Given the description of an element on the screen output the (x, y) to click on. 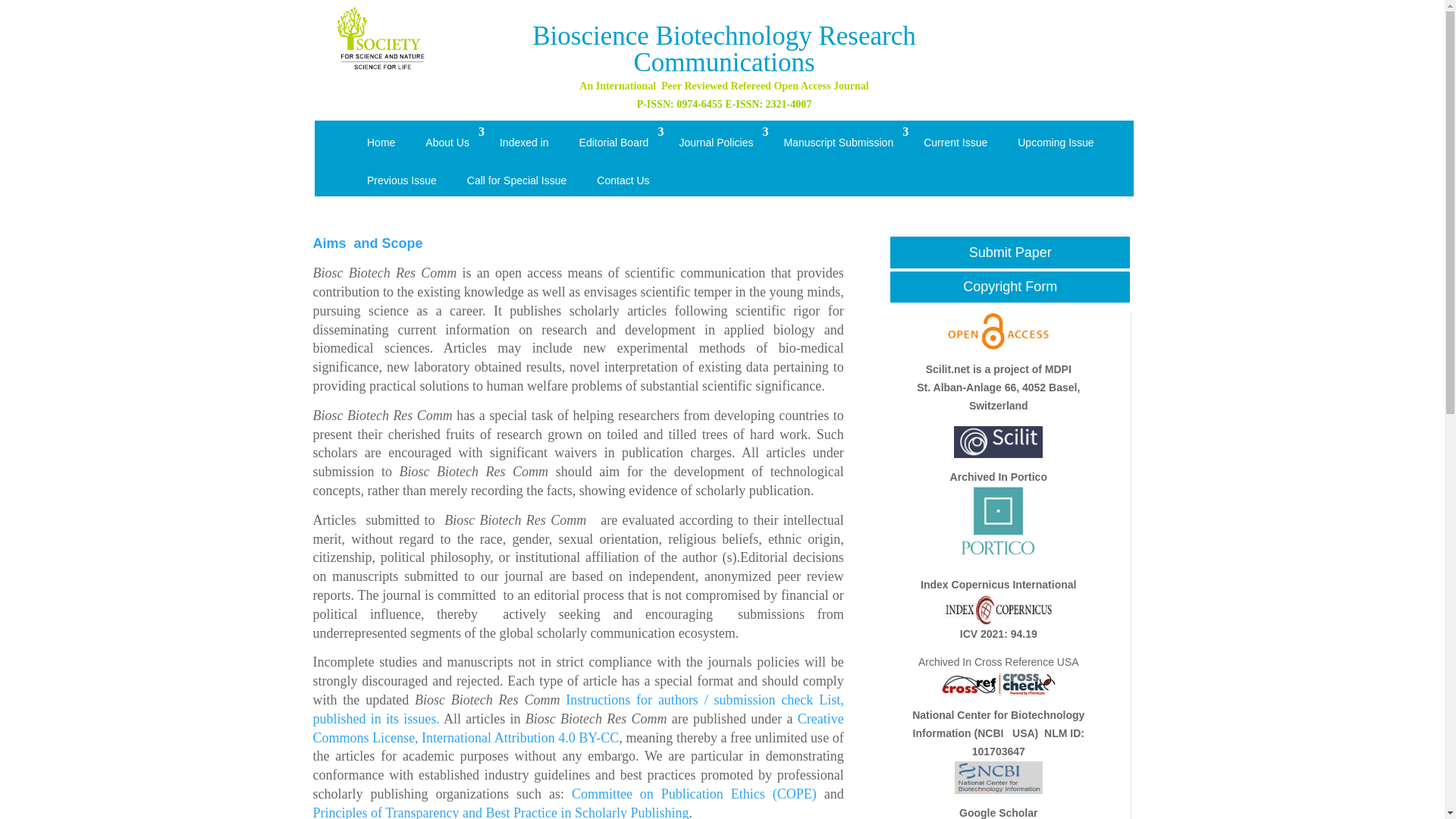
P-ISSN: 0974-6455 (679, 103)
E-ISSN: 2321-4007 (767, 103)
Home (381, 142)
About Us (447, 142)
